Given the description of an element on the screen output the (x, y) to click on. 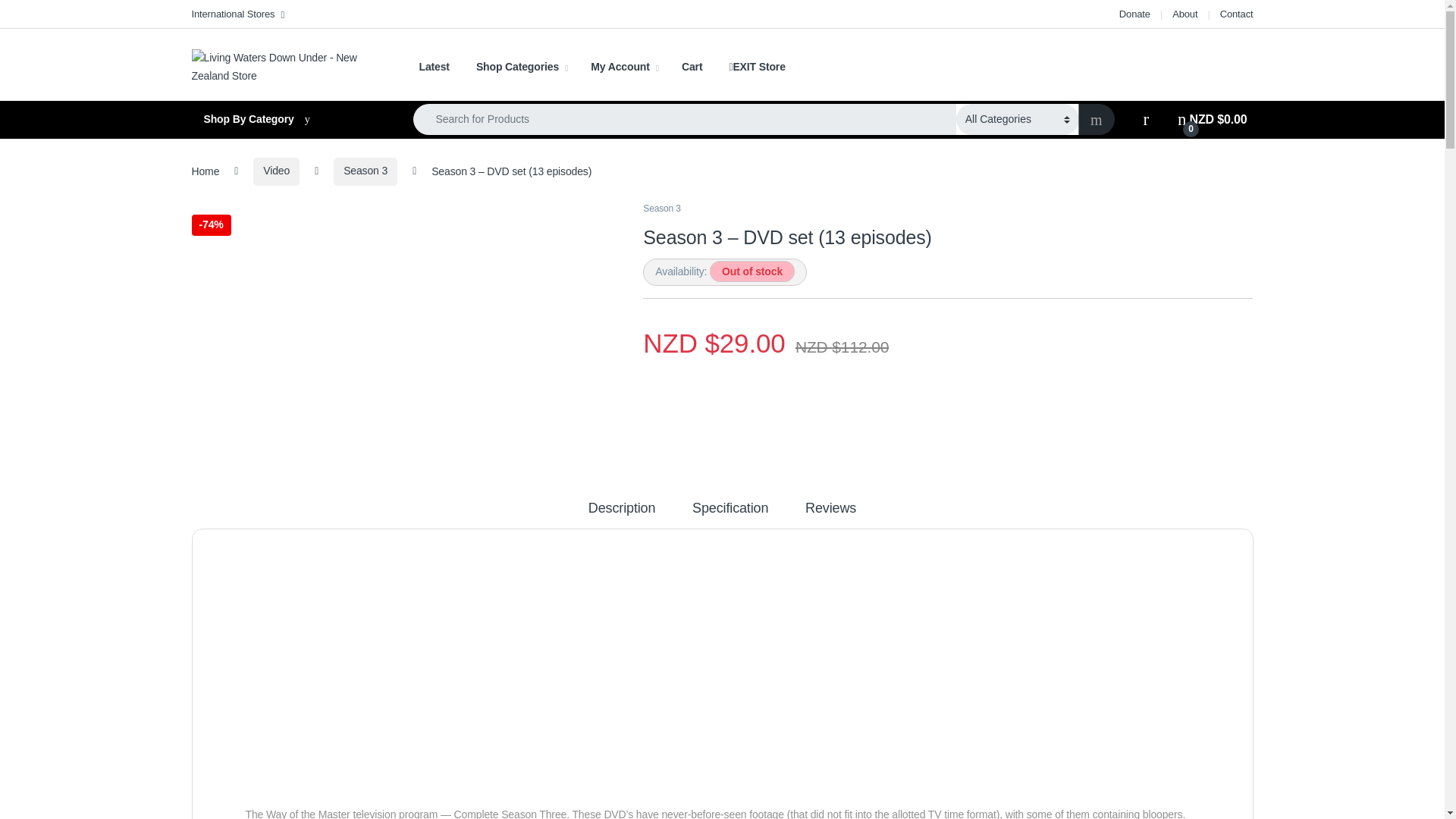
Donate (1134, 13)
Contact (1236, 13)
International Stores (236, 13)
About (1184, 13)
Donate (1134, 13)
International Stores (236, 13)
About (1184, 13)
Contact (1236, 13)
